Given the description of an element on the screen output the (x, y) to click on. 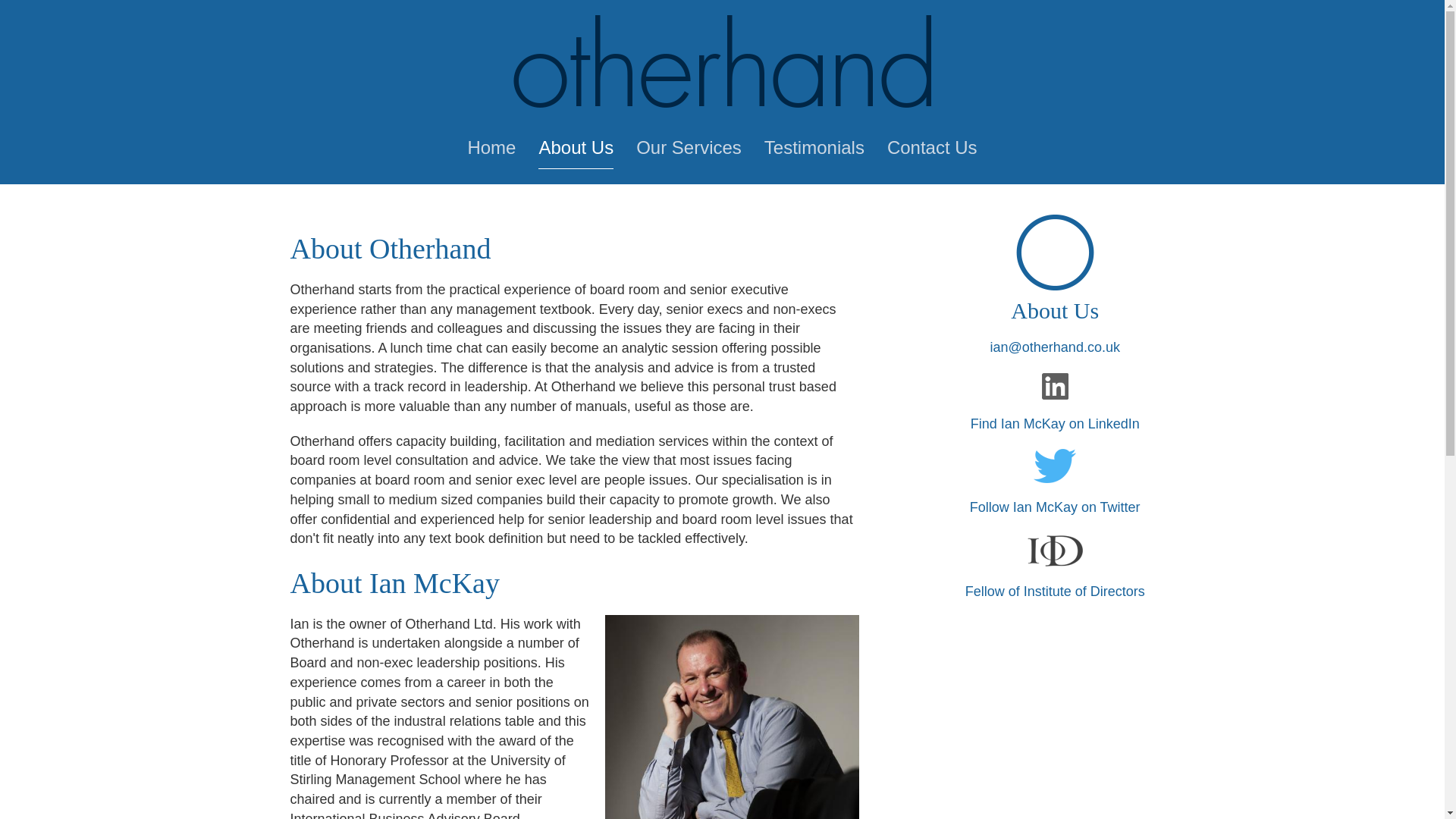
Our Services (688, 151)
Follow Ian McKay on Twitter (1054, 507)
Home (491, 151)
Ian McKay (724, 717)
Testimonials (814, 151)
Contact Us (931, 151)
About Us (575, 153)
Home (722, 61)
Fellow of Institute of Directors (1054, 590)
Find Ian McKay on LinkedIn (1055, 423)
